Given the description of an element on the screen output the (x, y) to click on. 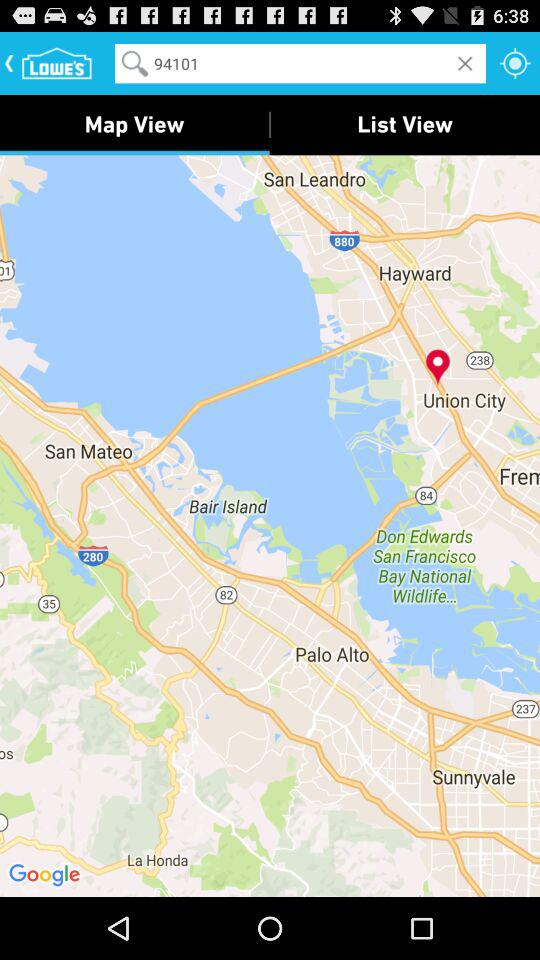
open the item above map view item (300, 62)
